Given the description of an element on the screen output the (x, y) to click on. 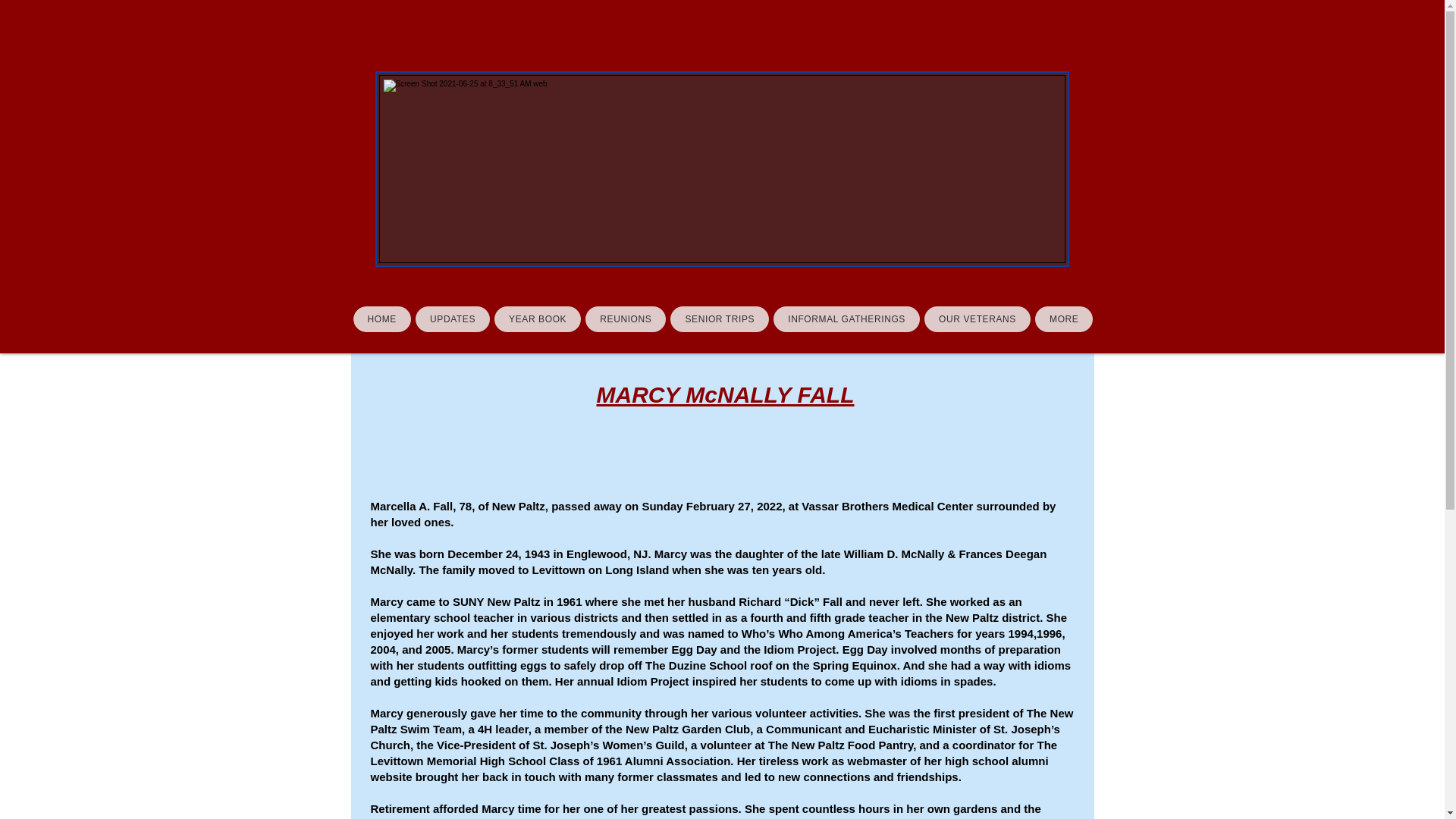
SENIOR TRIPS (718, 319)
UPDATES (451, 319)
REUNIONS (625, 319)
OUR VETERANS (977, 319)
YEAR BOOK (537, 319)
MORE (1064, 319)
INFORMAL GATHERINGS (846, 319)
HOME (381, 319)
